Given the description of an element on the screen output the (x, y) to click on. 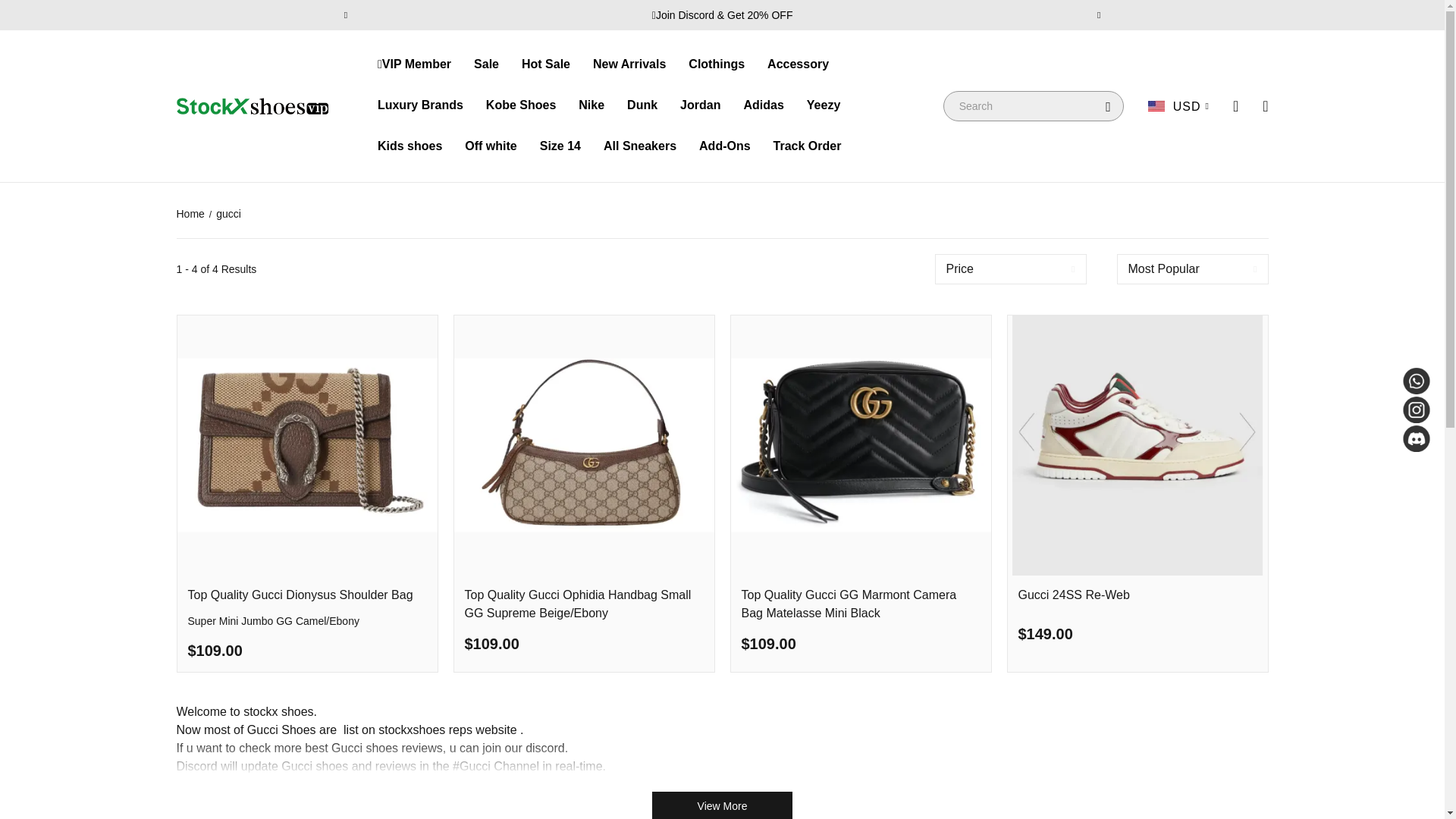
Hot Sale (545, 64)
All Sneakers (640, 146)
Size 14 (560, 146)
New Arrivals (628, 64)
Luxury Brands (420, 105)
Kobe Shoes (521, 105)
Yeezy (823, 105)
Jordan (699, 105)
Track Order (807, 146)
Sale (486, 64)
Clothings (716, 64)
Add-Ons (724, 146)
Kids shoes (409, 146)
Nike (591, 105)
Adidas (762, 105)
